Given the description of an element on the screen output the (x, y) to click on. 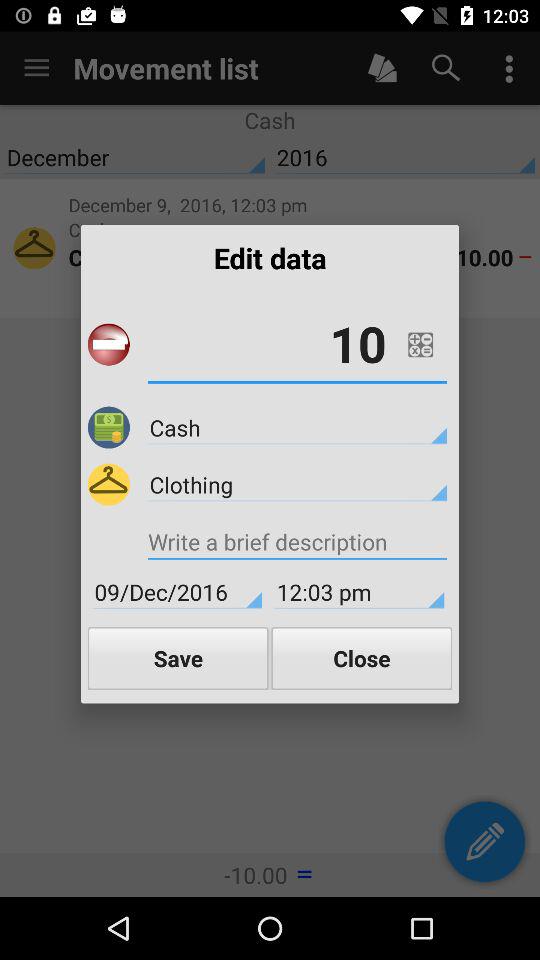
jump until the cash (297, 427)
